Given the description of an element on the screen output the (x, y) to click on. 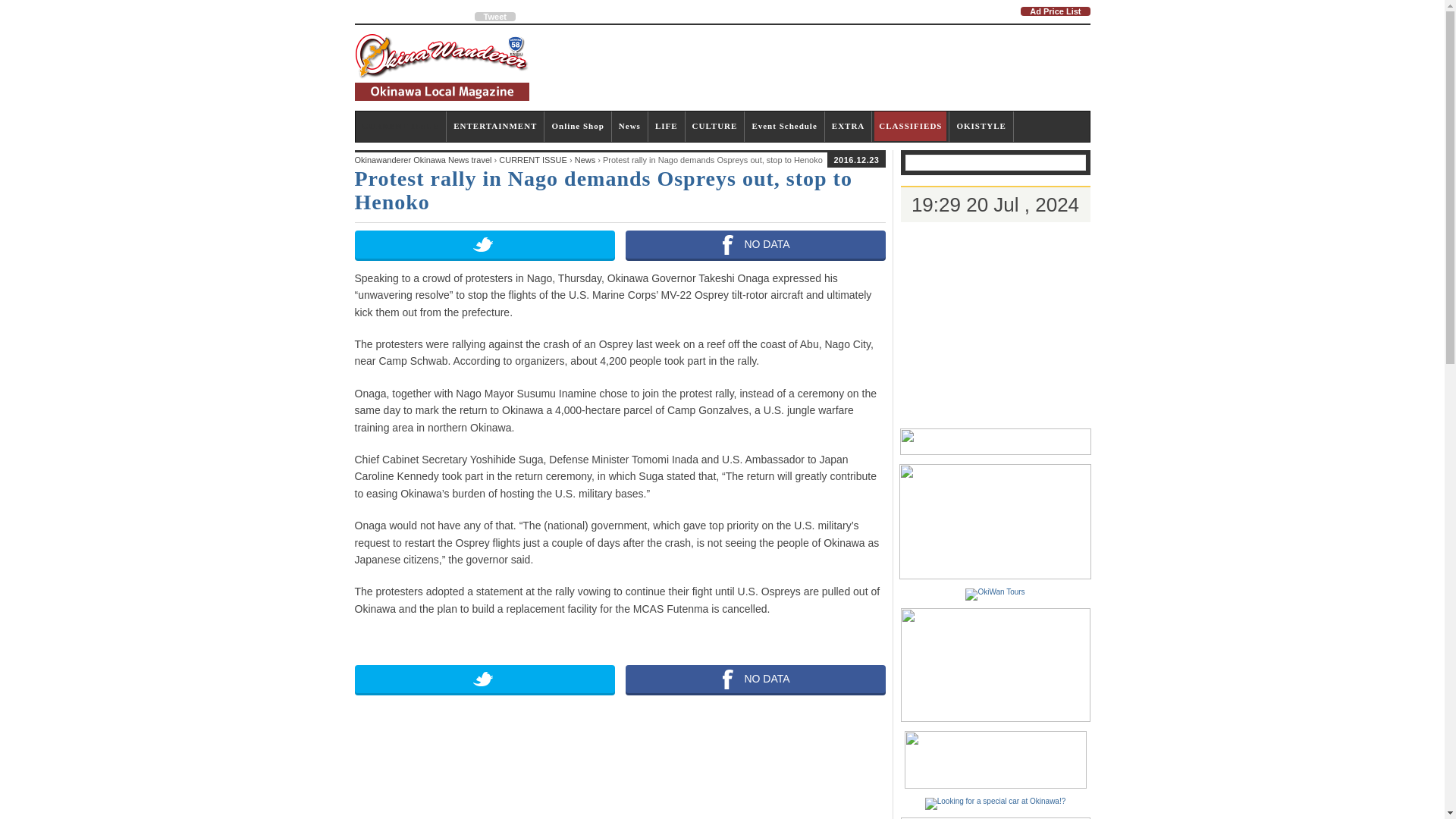
LIFE (666, 125)
CURRENT ISSUE (401, 125)
CULTURE (714, 125)
News (629, 125)
Ad Price List (1054, 10)
Advertisement (814, 66)
ENTERTAINMENT (494, 125)
Online Shop (577, 125)
LIFE (666, 125)
Tweet (494, 16)
